Given the description of an element on the screen output the (x, y) to click on. 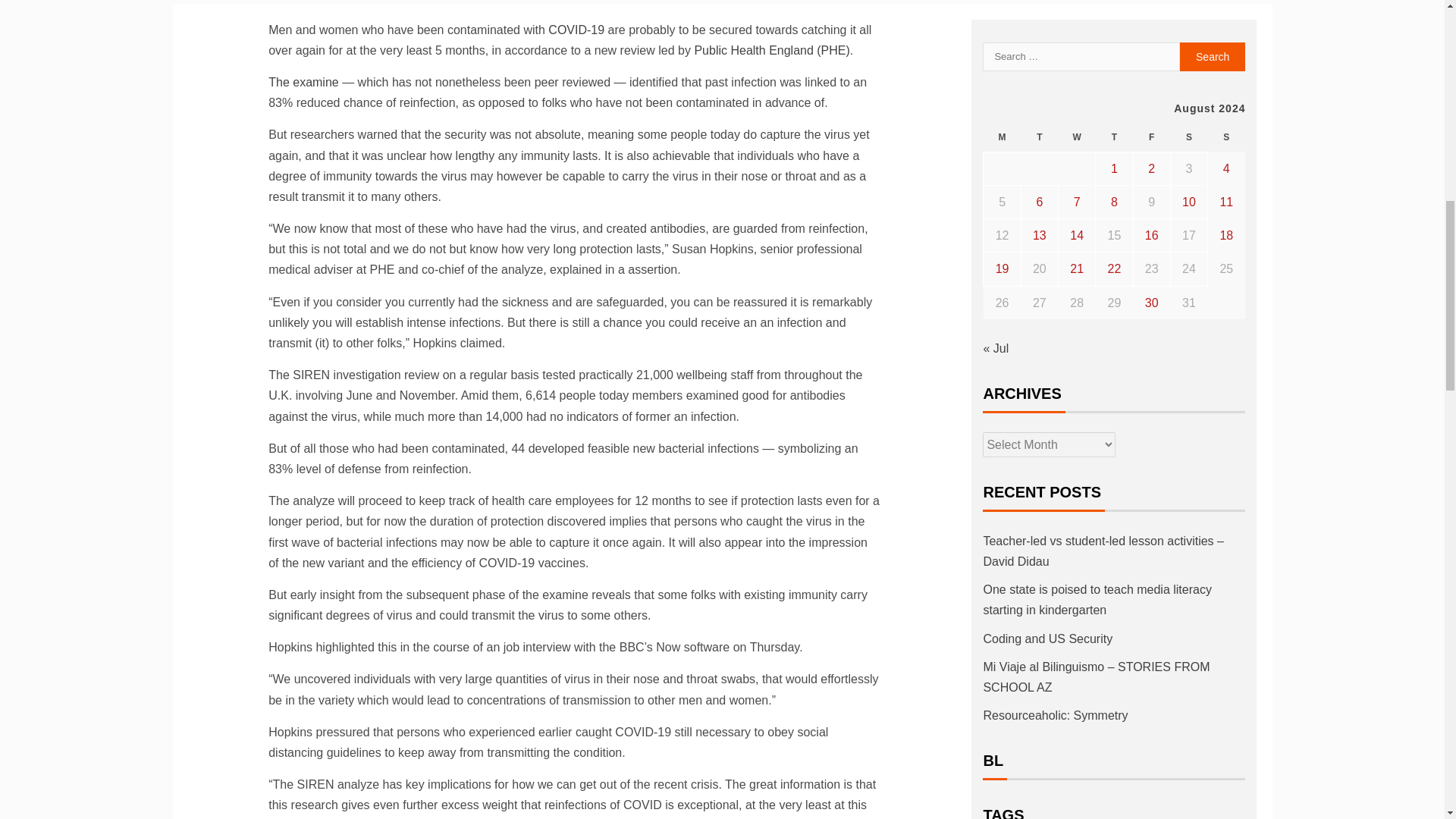
Wednesday (1077, 137)
Thursday (1114, 137)
Search (1212, 56)
The examine (303, 82)
Sunday (1226, 137)
Tuesday (1039, 137)
Saturday (1188, 137)
COVID-19 (576, 29)
Search (1212, 56)
Friday (1151, 137)
